Given the description of an element on the screen output the (x, y) to click on. 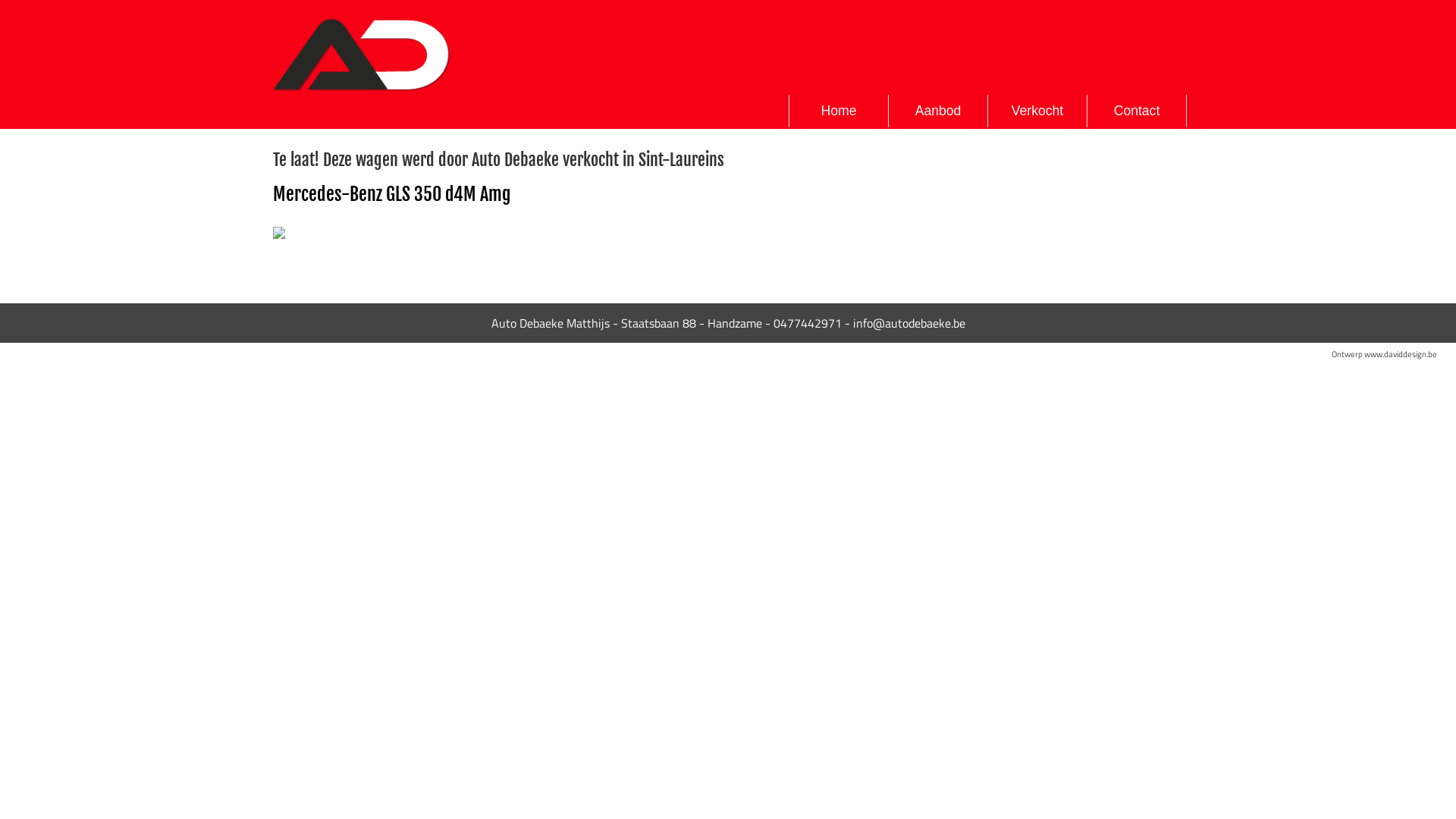
Contact Element type: text (1136, 110)
Verkocht Element type: text (1037, 110)
Aanbod Element type: text (938, 110)
Home Element type: text (838, 110)
